Given the description of an element on the screen output the (x, y) to click on. 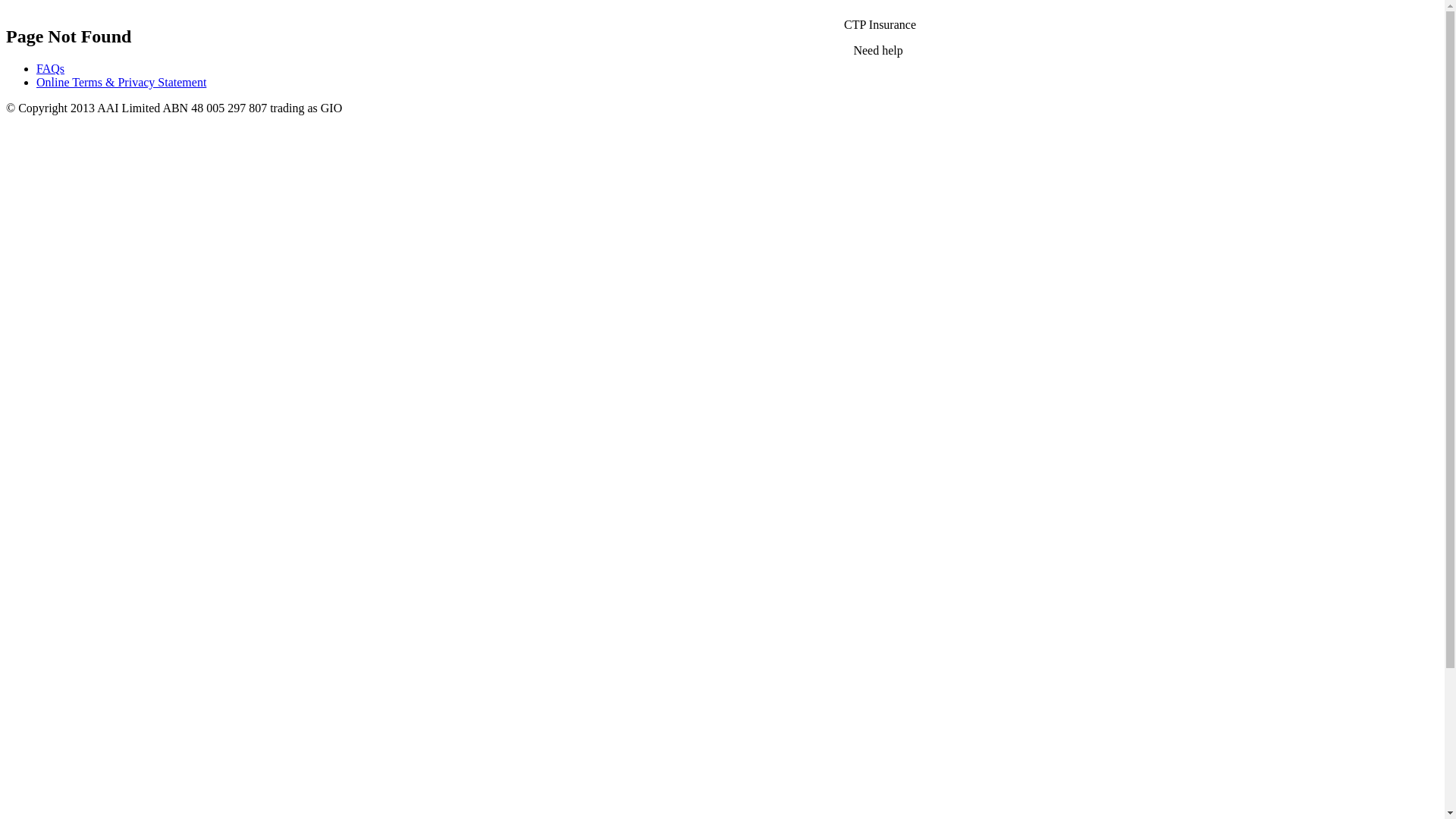
Need help Element type: text (879, 49)
Online Terms & Privacy Statement Element type: text (121, 81)
FAQs Element type: text (50, 68)
